Given the description of an element on the screen output the (x, y) to click on. 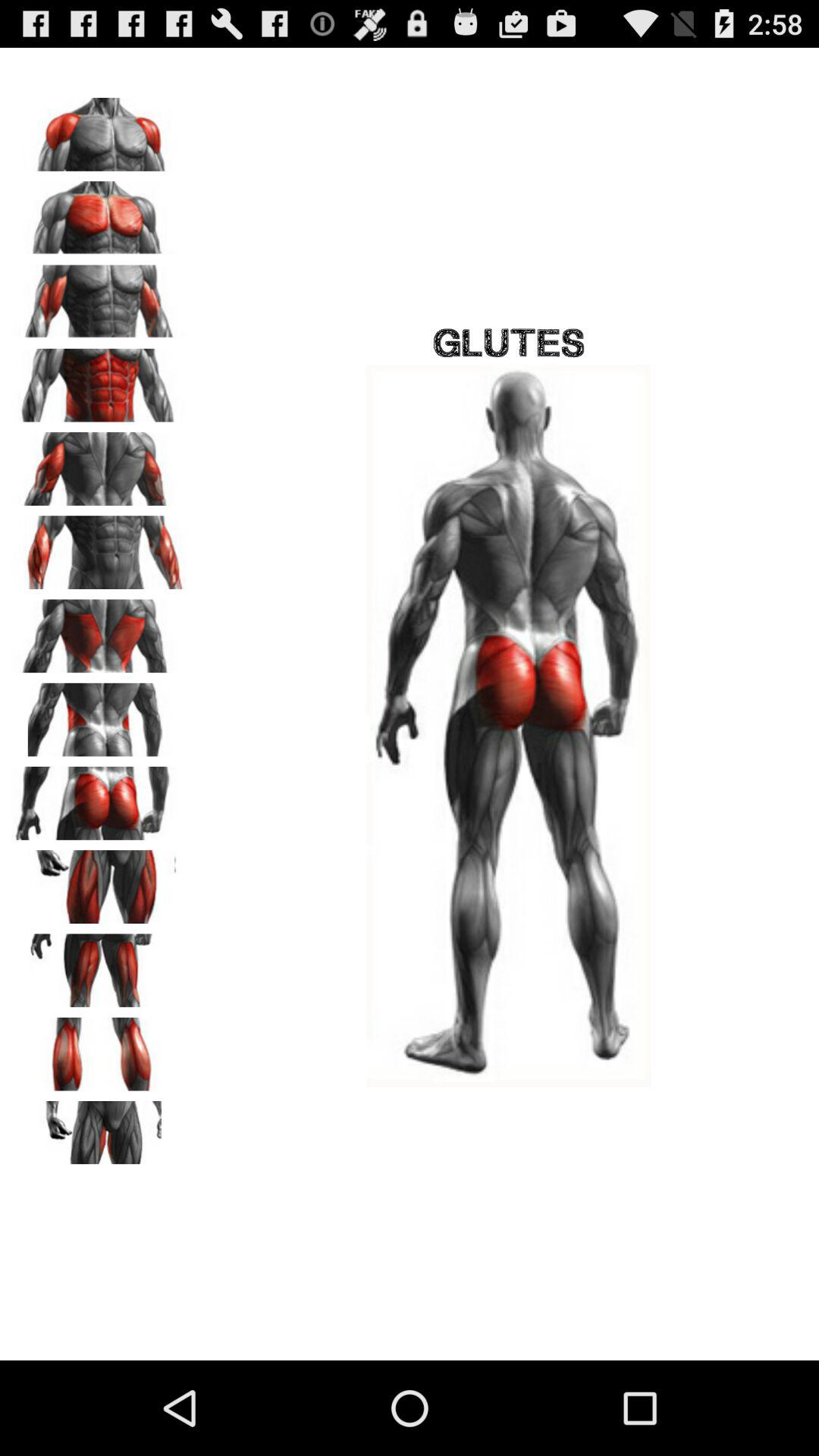
select part of body (99, 965)
